Given the description of an element on the screen output the (x, y) to click on. 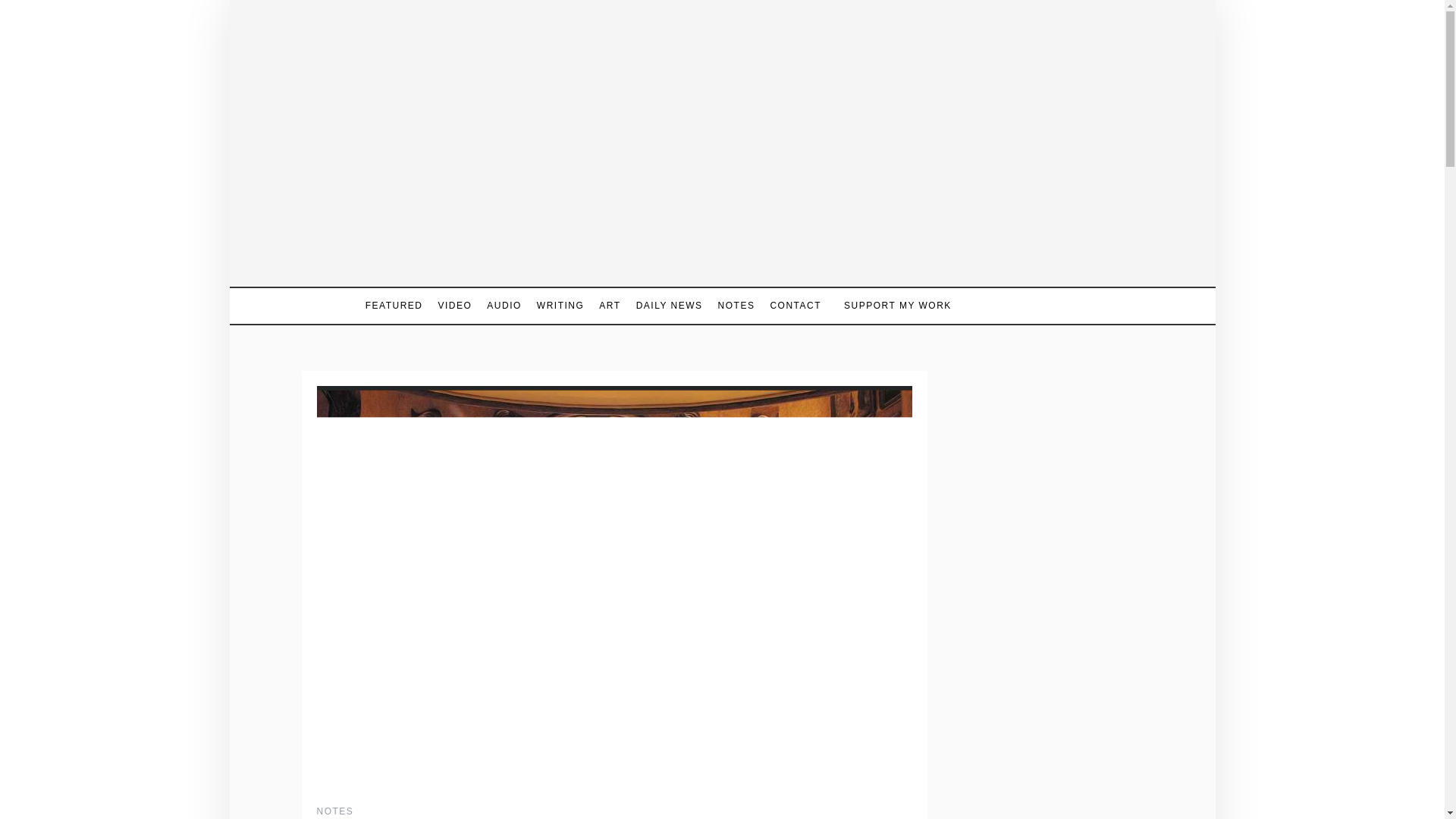
CONTACT (794, 305)
FEATURED (397, 305)
AUDIO (504, 305)
DAILY NEWS (669, 305)
NOTES (335, 810)
SUPPORT MY WORK (890, 305)
NOTES (736, 305)
WRITING (560, 305)
ART (609, 305)
VIDEO (454, 305)
